Given the description of an element on the screen output the (x, y) to click on. 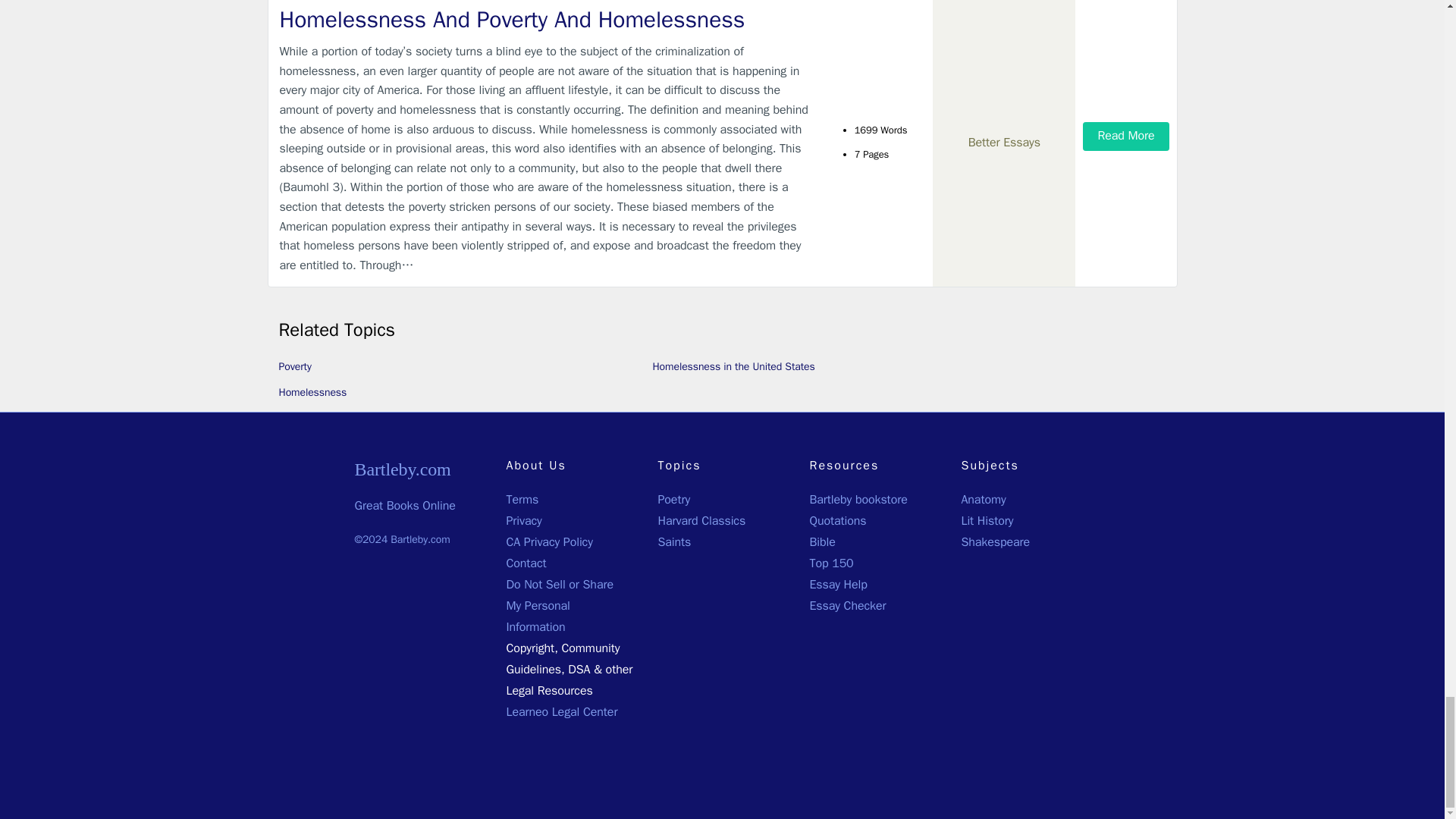
Homelessness (313, 391)
Poverty (295, 366)
Homelessness in the United States (732, 366)
